Given the description of an element on the screen output the (x, y) to click on. 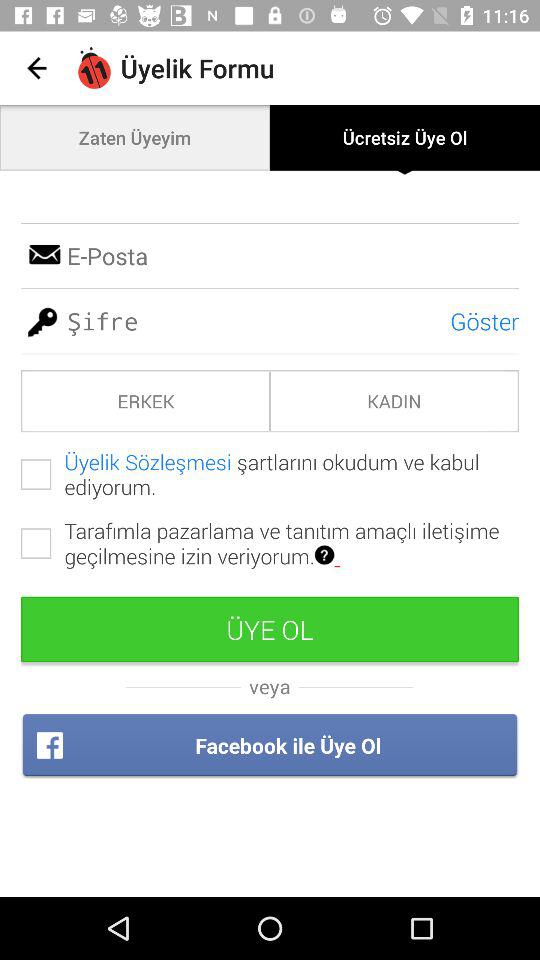
turn off the icon next to erkek item (393, 400)
